Given the description of an element on the screen output the (x, y) to click on. 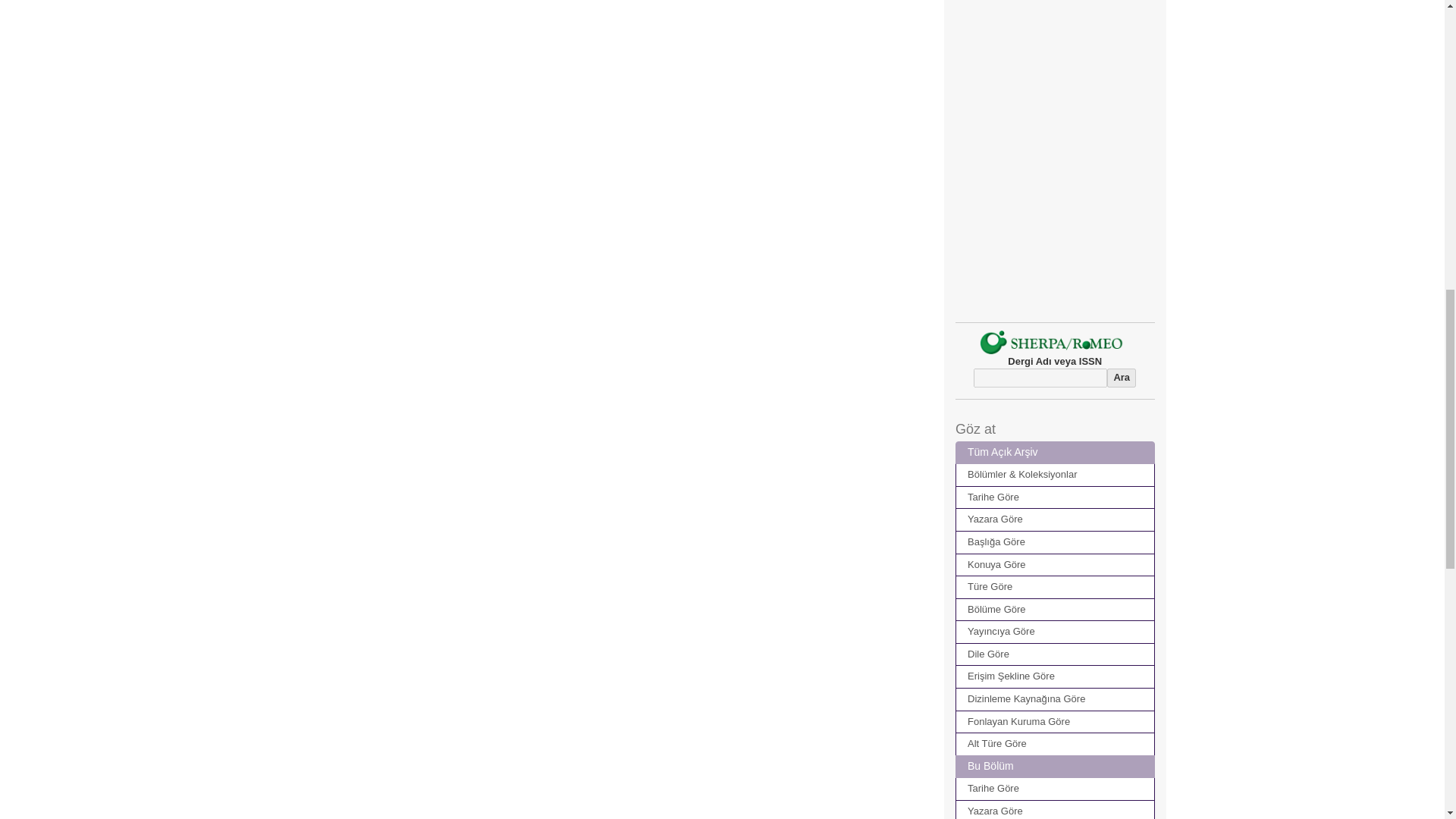
Ara (1120, 377)
